Given the description of an element on the screen output the (x, y) to click on. 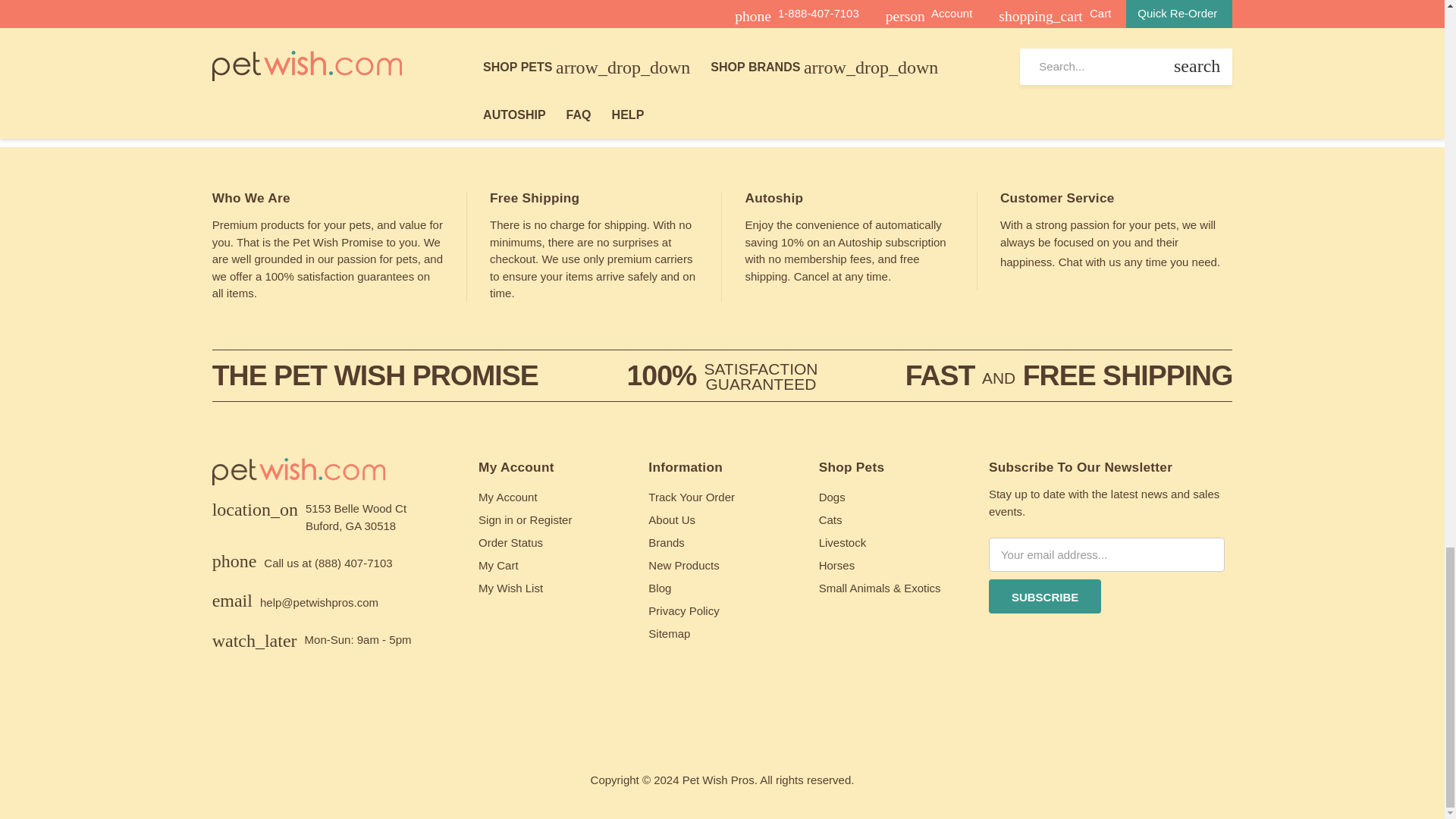
Pet Wish Pros (298, 478)
Subscribe (1044, 596)
